Given the description of an element on the screen output the (x, y) to click on. 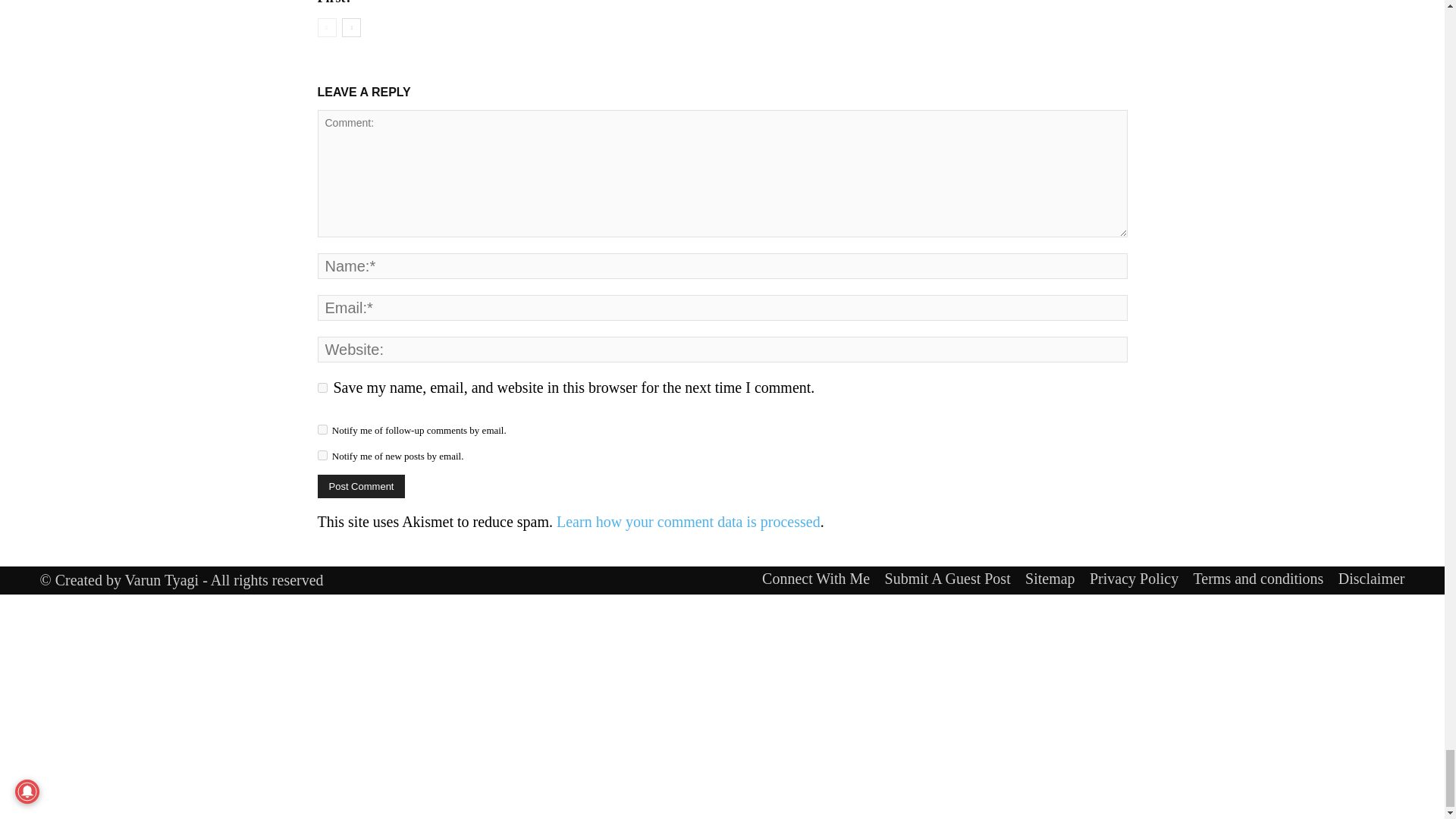
Post Comment (360, 486)
yes (321, 388)
subscribe (321, 455)
subscribe (321, 429)
